Given the description of an element on the screen output the (x, y) to click on. 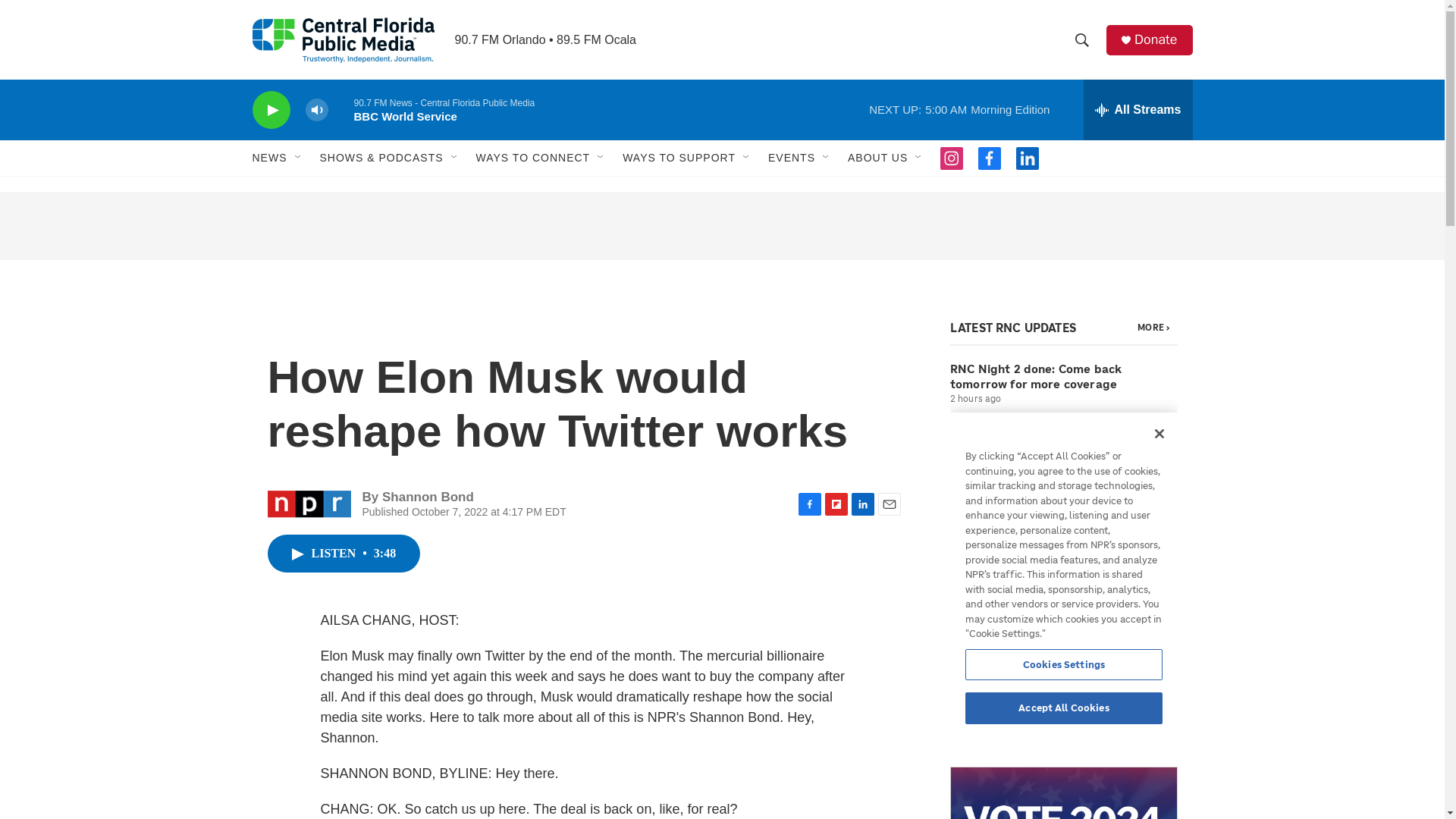
3rd party ad content (721, 225)
